Given the description of an element on the screen output the (x, y) to click on. 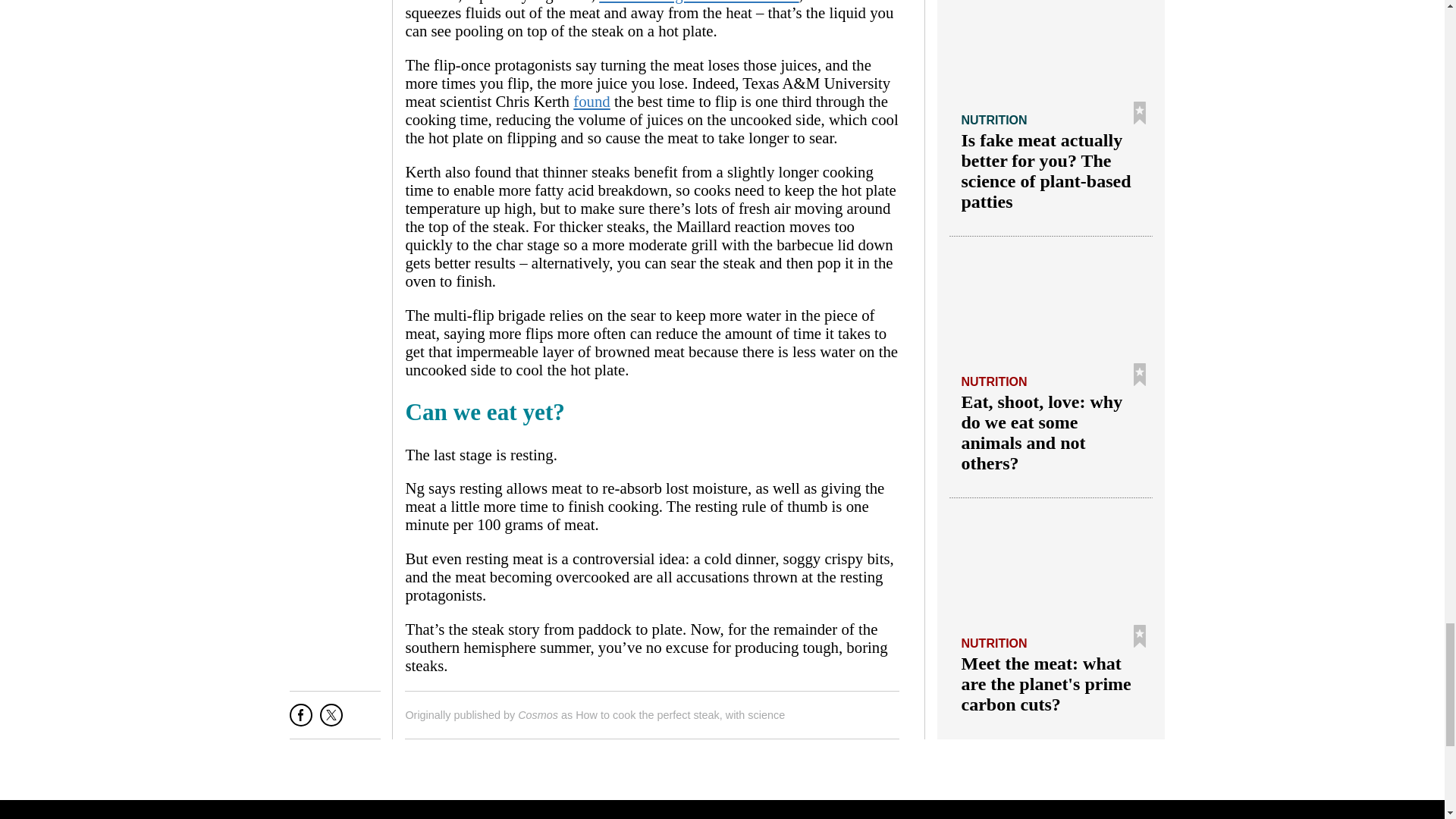
How to cook the perfect steak, with science (679, 715)
Share on Facebook (301, 720)
Tweet (331, 720)
